Given the description of an element on the screen output the (x, y) to click on. 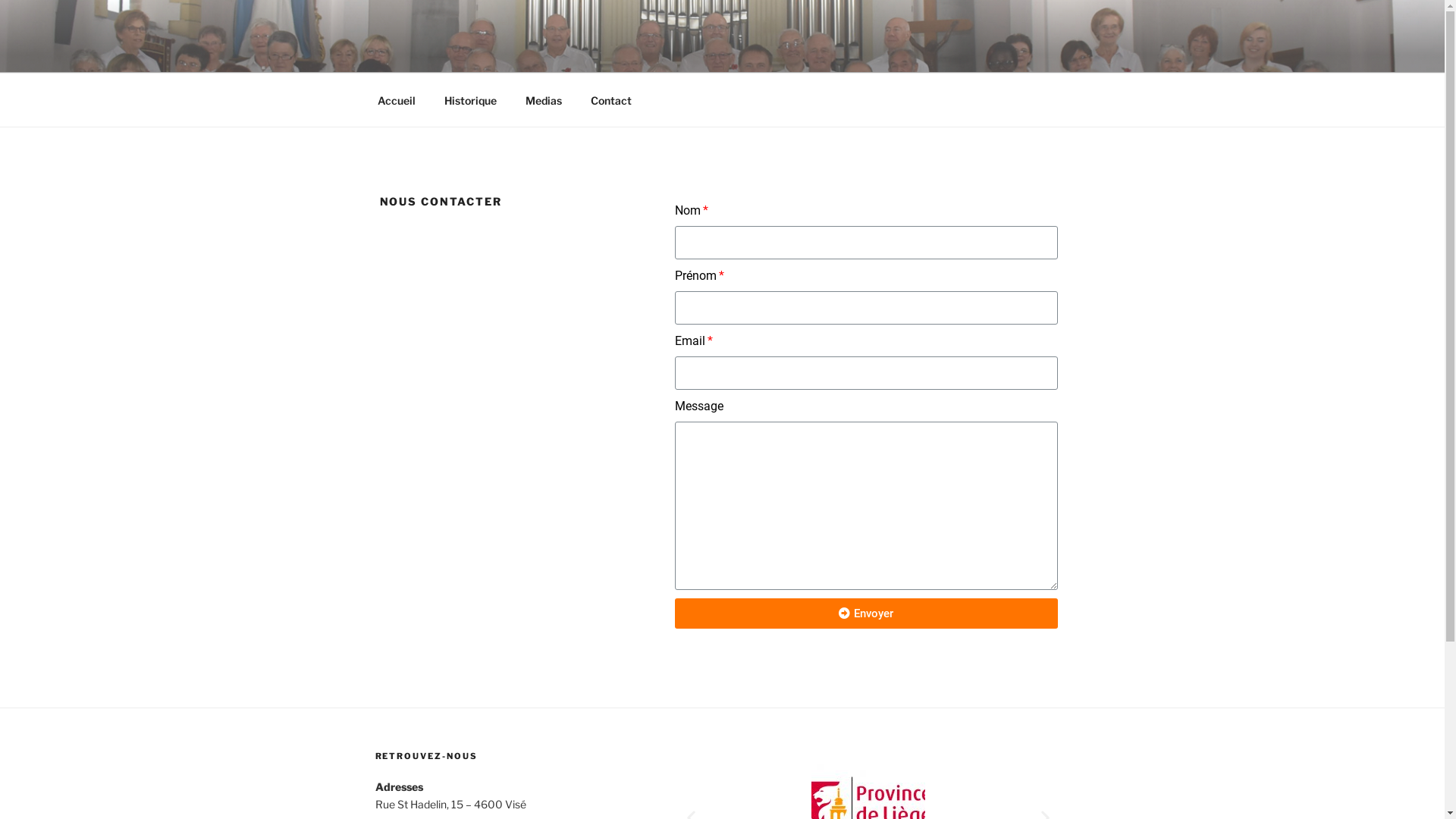
Accueil Element type: text (396, 100)
Envoyer Element type: text (865, 613)
ROYAL CERCLE CHORAL CESAR FRANCK Element type: text (695, 52)
Medias Element type: text (543, 100)
Contact Element type: text (611, 100)
Historique Element type: text (469, 100)
